Given the description of an element on the screen output the (x, y) to click on. 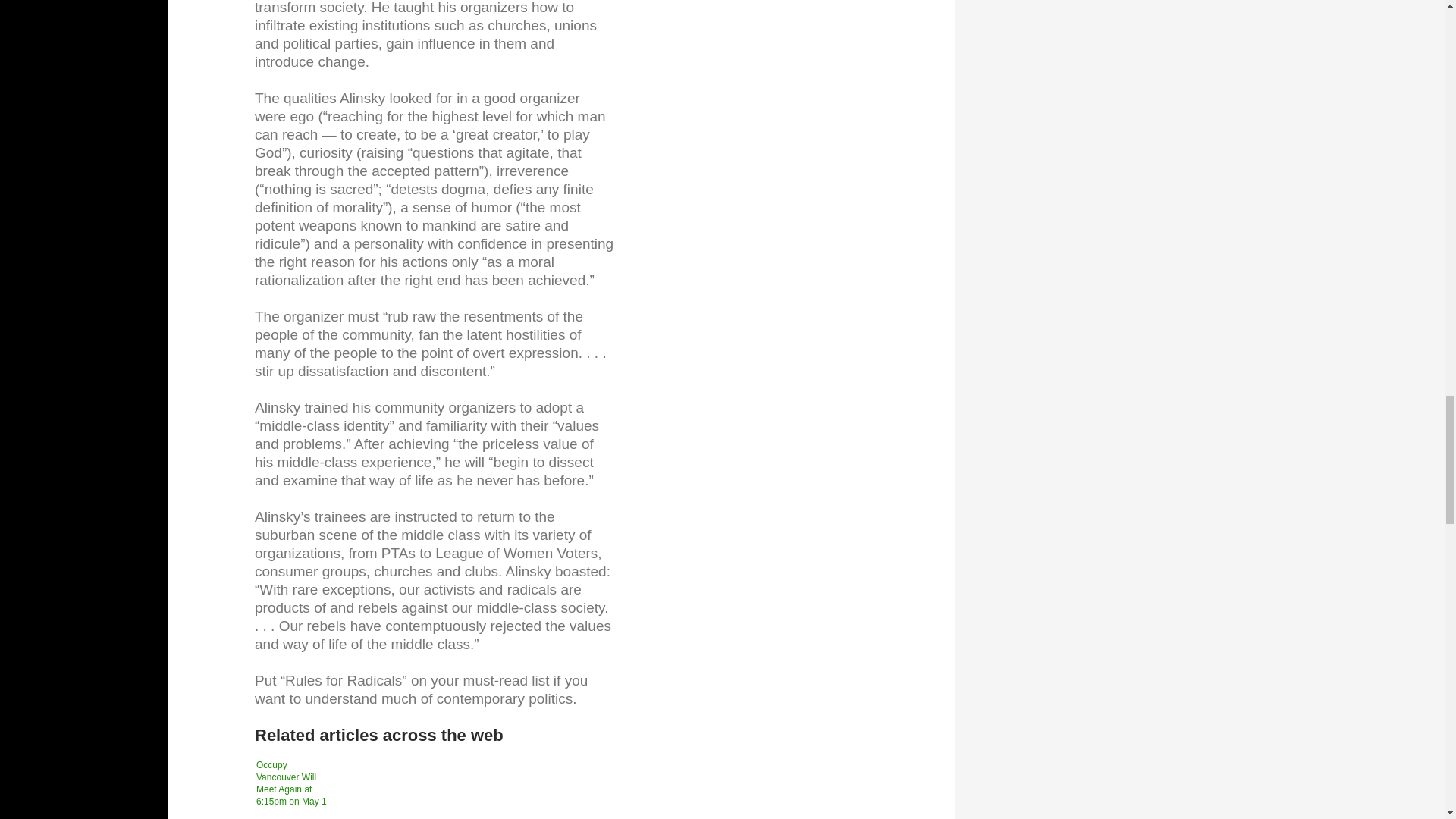
Occupy Vancouver Will Meet Again at 6:15pm on May 1 (293, 787)
